Given the description of an element on the screen output the (x, y) to click on. 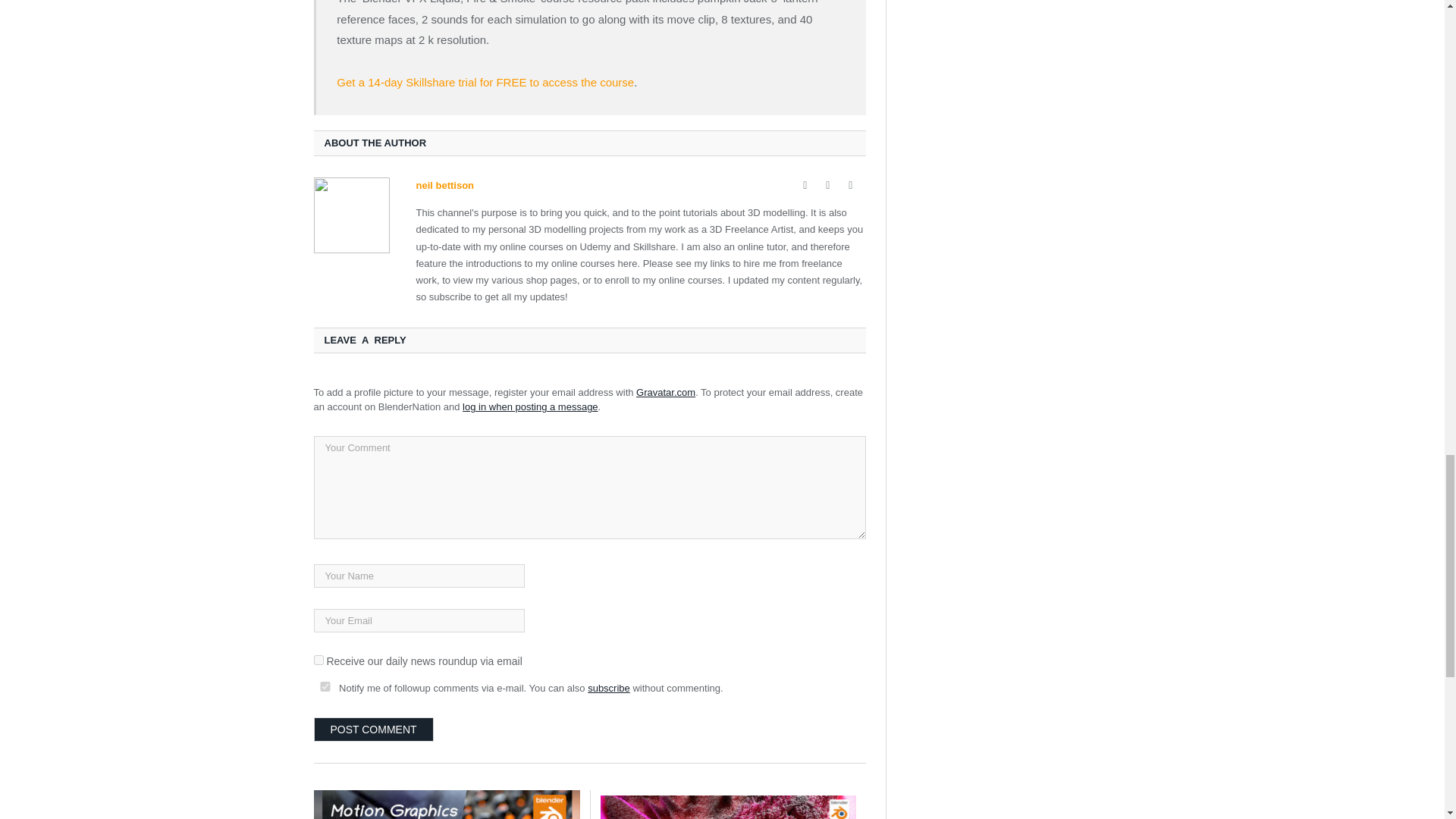
Post Comment (373, 729)
Facebook (828, 185)
Twitter (851, 185)
Get a 14-day Skillshare trial for FREE to access the course (484, 82)
1 (318, 660)
yes (325, 686)
Website (804, 185)
